Given the description of an element on the screen output the (x, y) to click on. 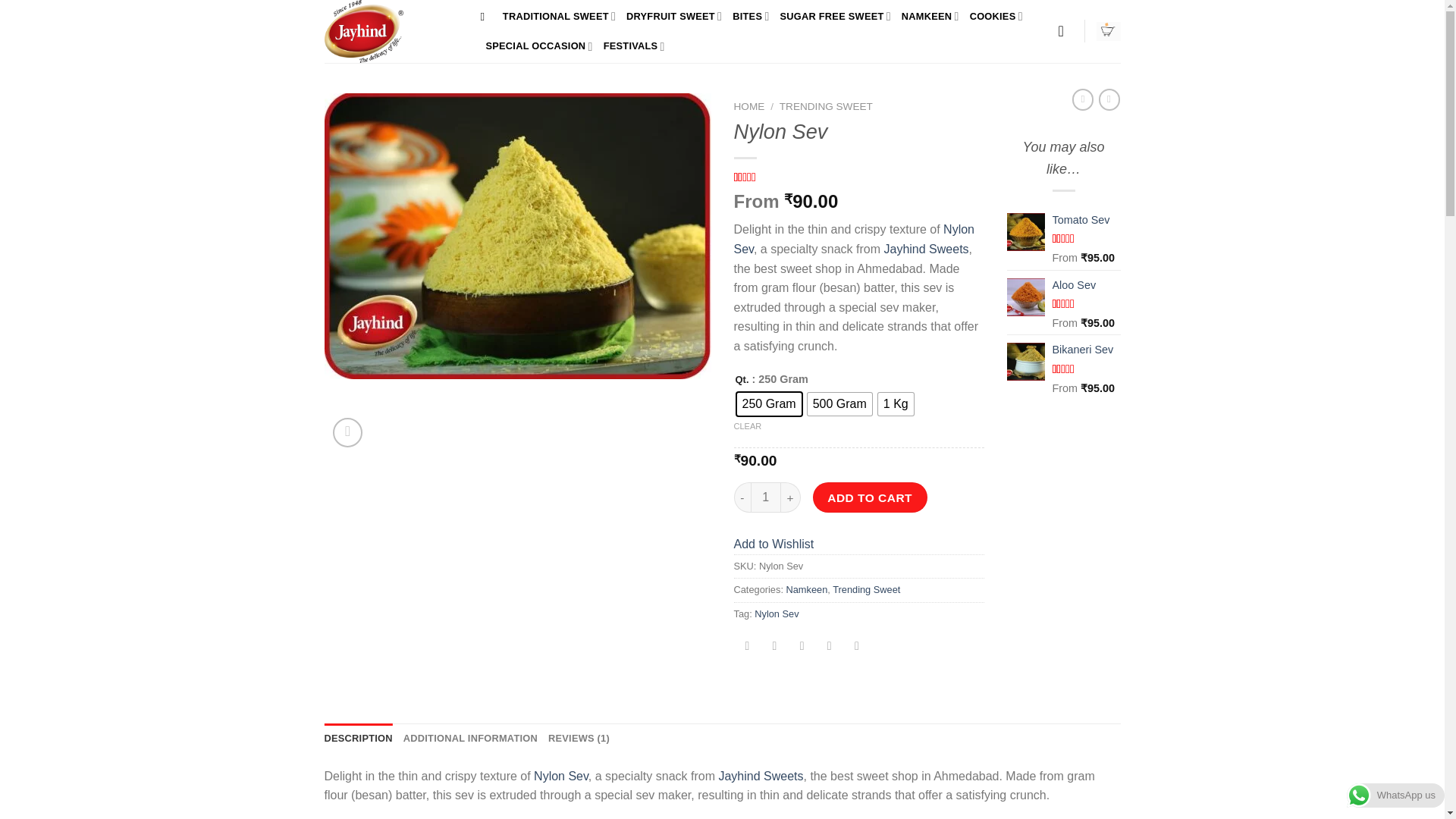
TRADITIONAL SWEET (558, 16)
1 (765, 497)
Zoom (347, 432)
